Given the description of an element on the screen output the (x, y) to click on. 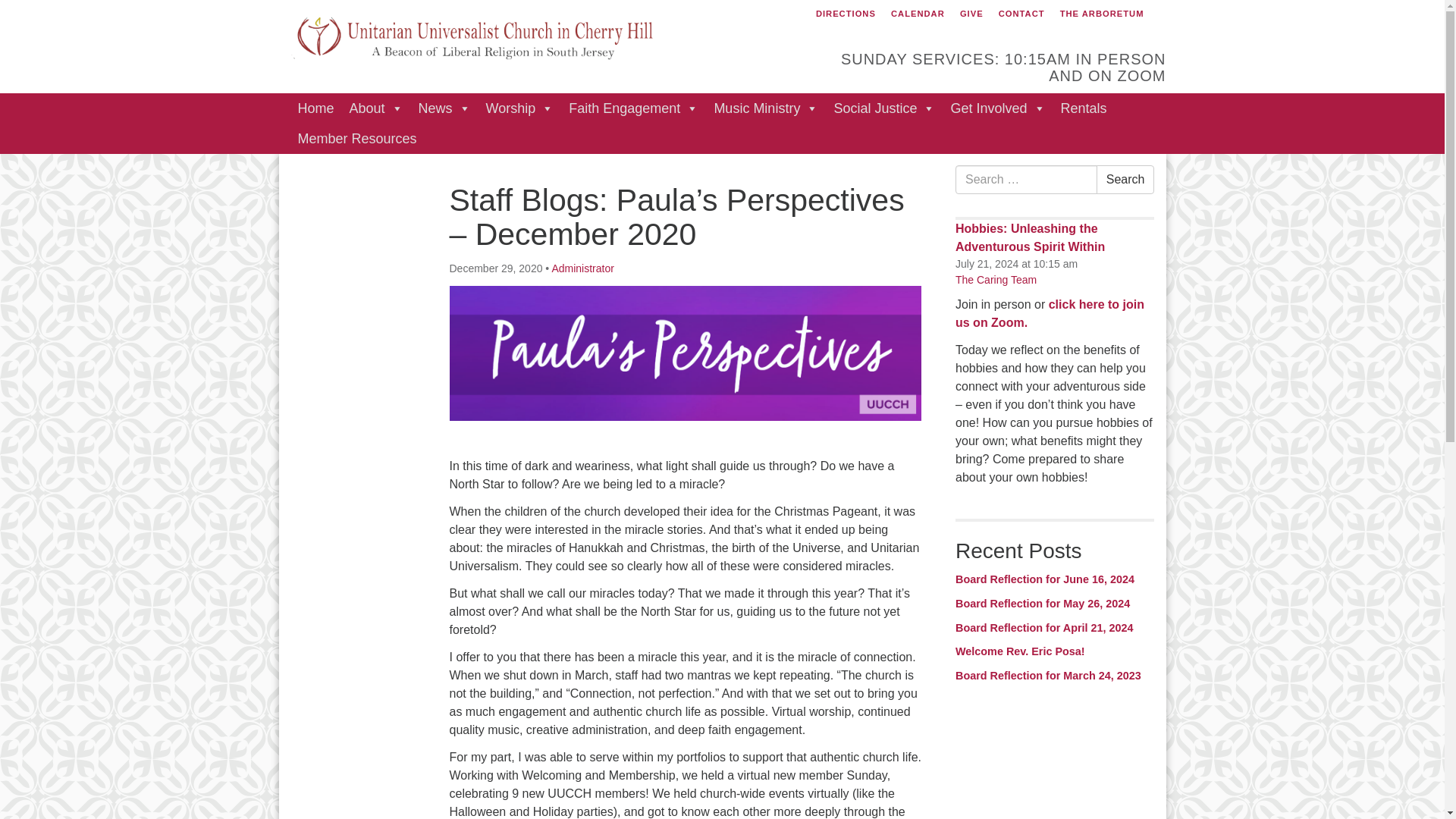
CONTACT (1020, 13)
CALENDAR (917, 13)
Posts by Administrator (581, 268)
GIVE (971, 13)
News (444, 108)
Home (314, 108)
DIRECTIONS (845, 13)
THE ARBORETUM (1102, 13)
About (376, 108)
